Given the description of an element on the screen output the (x, y) to click on. 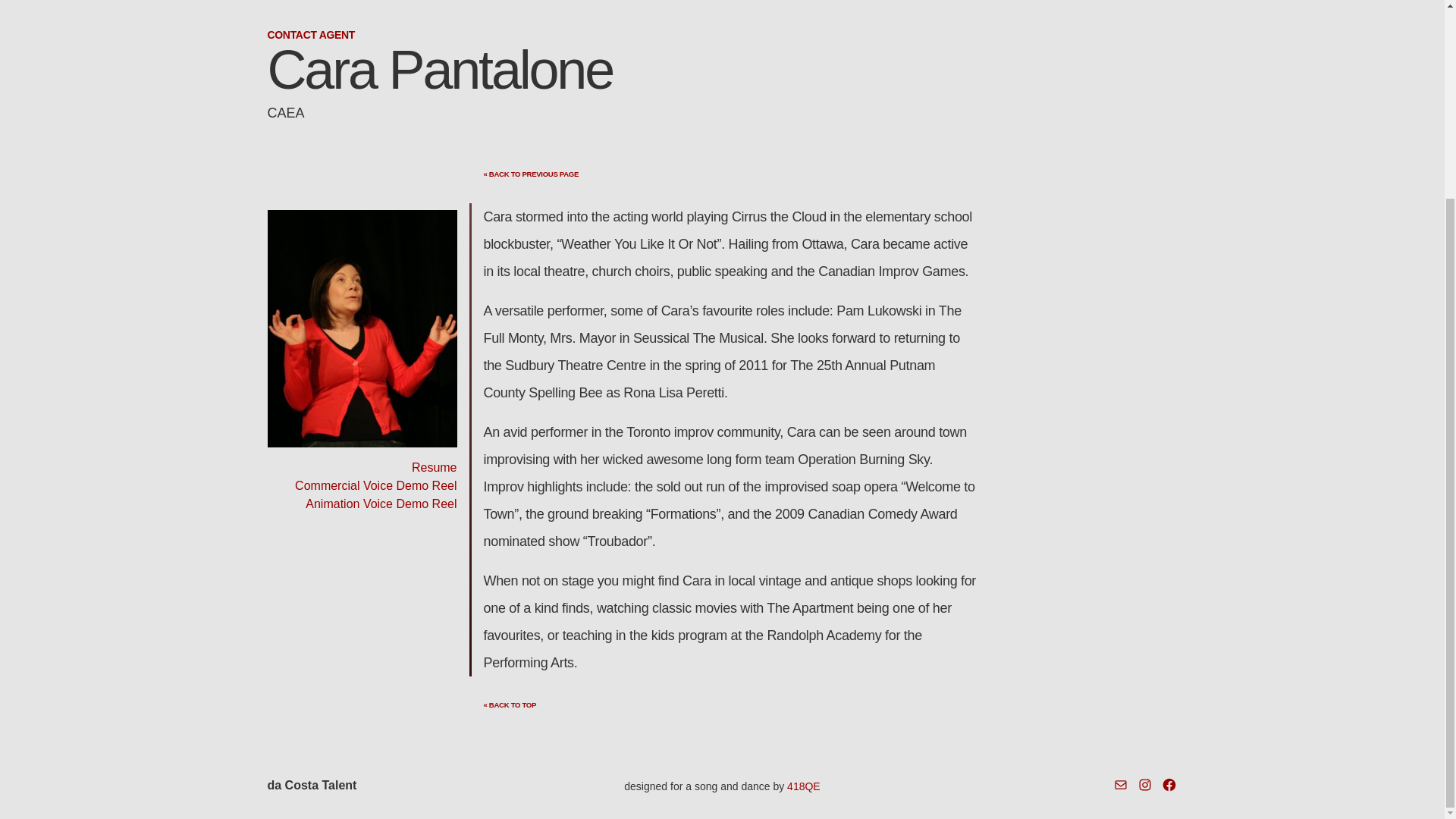
Resume (434, 467)
418QE (804, 786)
CONTACT AGENT (310, 34)
Instagram (1145, 784)
Facebook (1168, 784)
da Costa Talent (311, 784)
Animation Voice Demo Reel (381, 503)
Commercial Voice Demo Reel (376, 485)
